Given the description of an element on the screen output the (x, y) to click on. 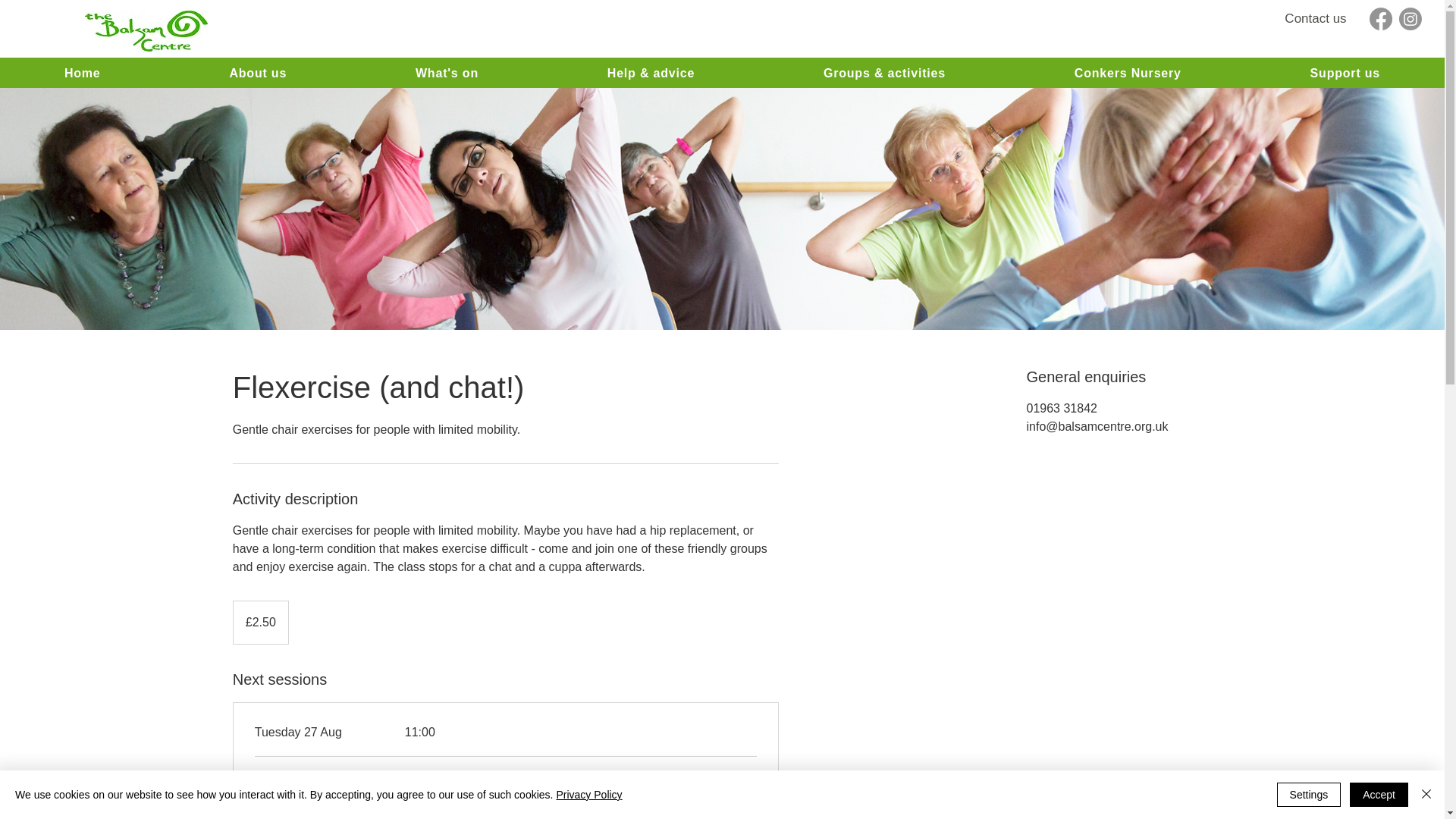
White logo transparent background.png (146, 30)
Home (82, 72)
What's on (446, 72)
About us (257, 72)
Contact us (1316, 19)
